Given the description of an element on the screen output the (x, y) to click on. 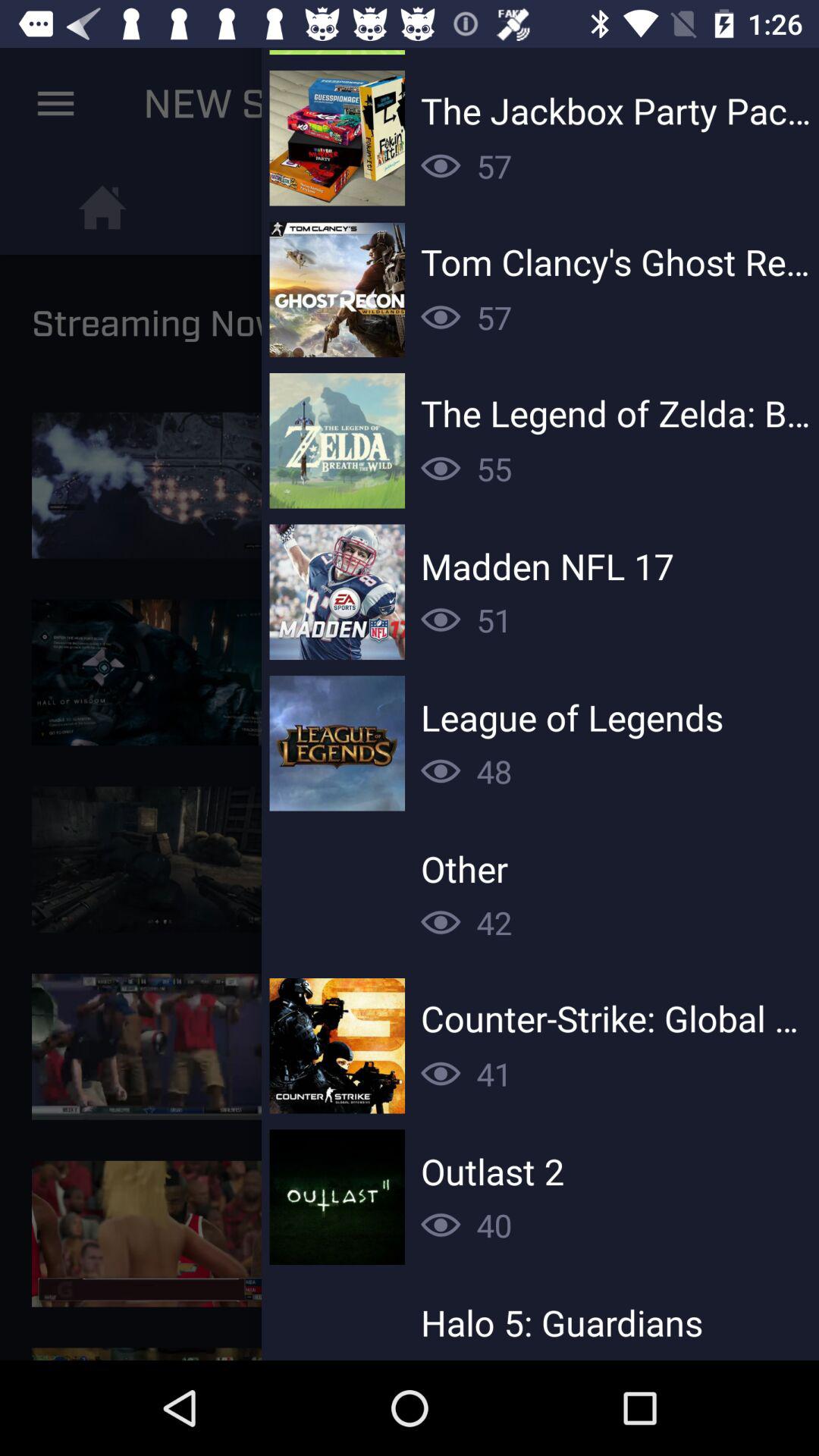
go to views of second option (440, 317)
select the image at the bottom of the page (160, 1233)
select the image beside counterstrikeglobal (337, 1045)
click on eye symbol which is below outlast 2 (440, 1224)
